Given the description of an element on the screen output the (x, y) to click on. 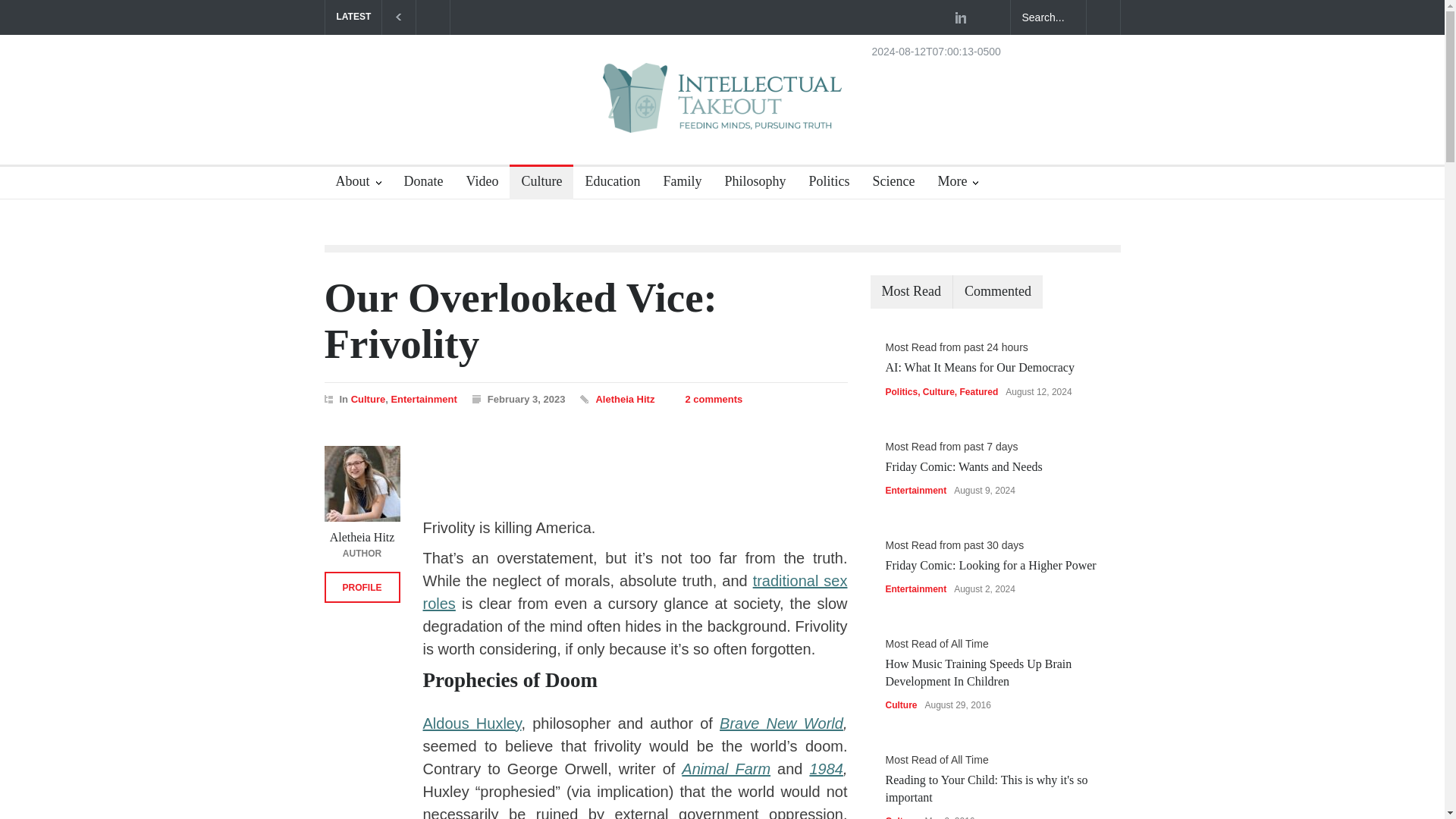
Video (475, 183)
Culture (367, 398)
Our Overlooked Vice: Frivolity (520, 320)
Search... (1048, 17)
View all posts filed under Culture (367, 398)
Intellectual Takeout (721, 107)
Family (675, 183)
Science (887, 183)
